Given the description of an element on the screen output the (x, y) to click on. 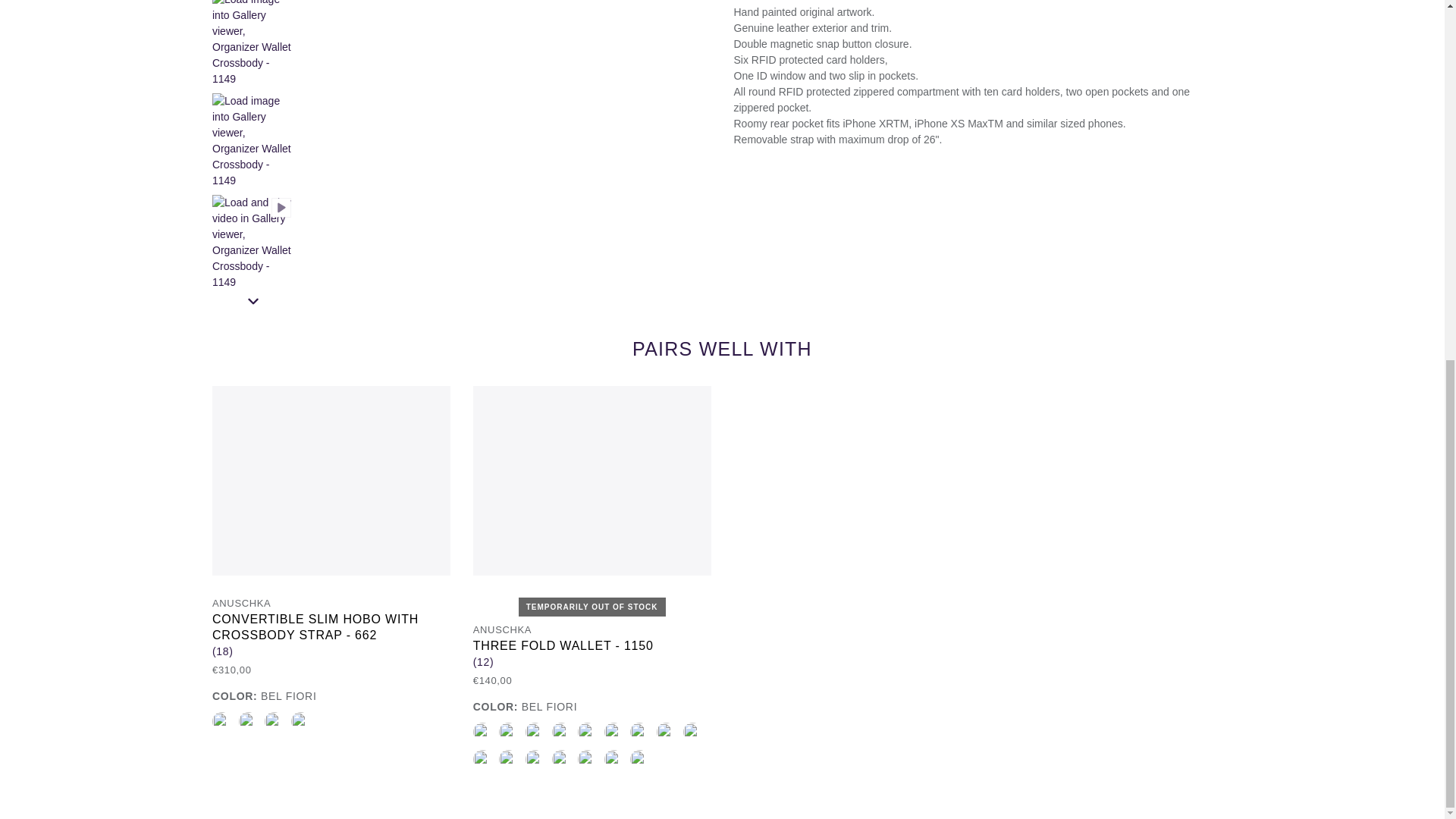
Convertible Slim Hobo With Crossbody Strap - 662 (221, 721)
Convertible Slim Hobo With Crossbody Strap - 662 (273, 721)
Convertible Slim Hobo With Crossbody Strap - 662 (247, 721)
